Given the description of an element on the screen output the (x, y) to click on. 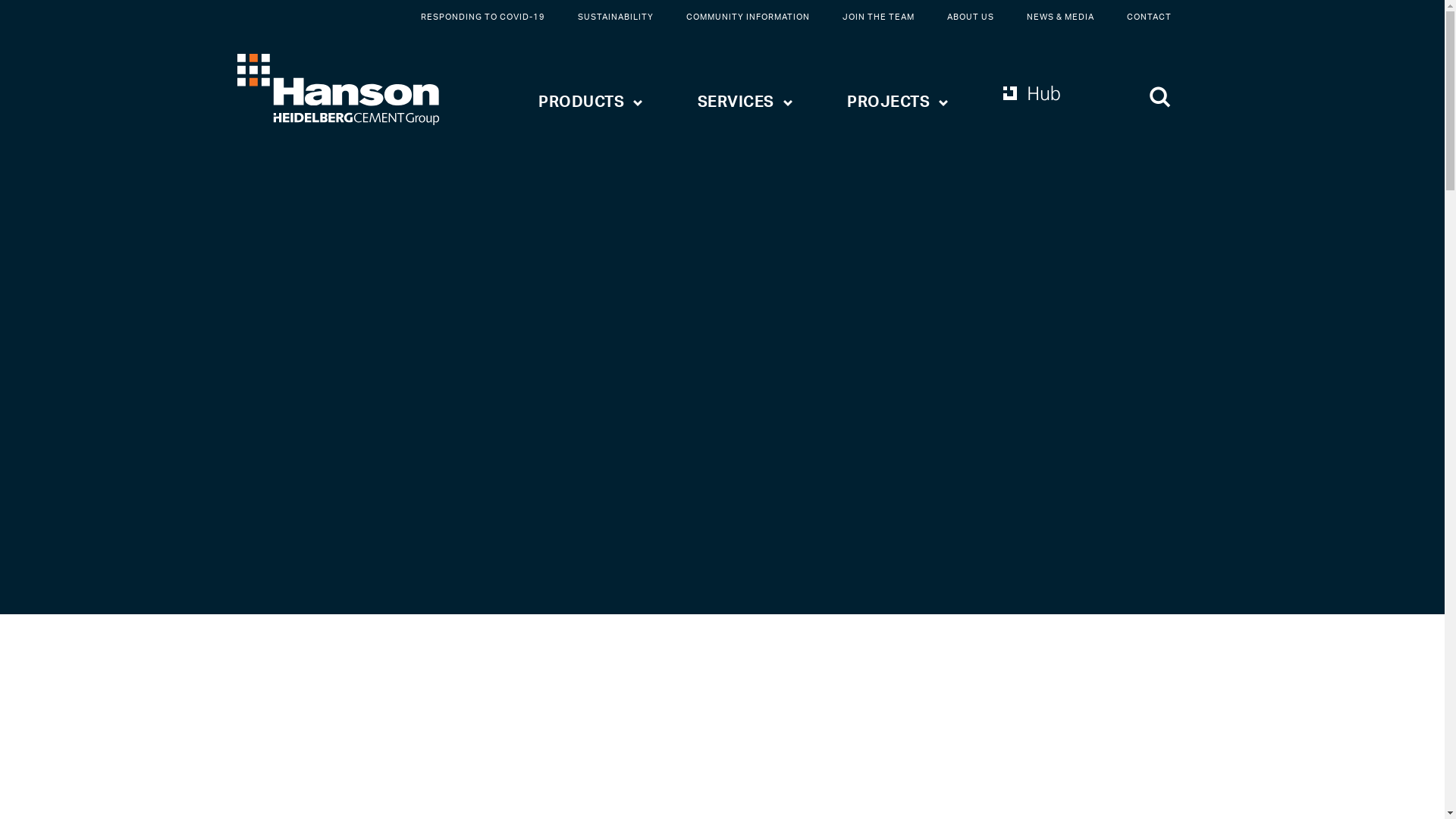
SUSTAINABILITY Element type: text (615, 16)
SERVICES Element type: text (745, 96)
CONTACT Element type: text (1148, 16)
PRODUCTS Element type: text (590, 96)
LOGIN TO HUB Element type: text (1047, 100)
JOIN THE TEAM Element type: text (877, 16)
NEWS & MEDIA Element type: text (1060, 16)
PROJECTS Element type: text (897, 96)
COMMUNITY INFORMATION Element type: text (747, 16)
ABOUT US Element type: text (969, 16)
RESPONDING TO COVID-19 Element type: text (482, 16)
